Given the description of an element on the screen output the (x, y) to click on. 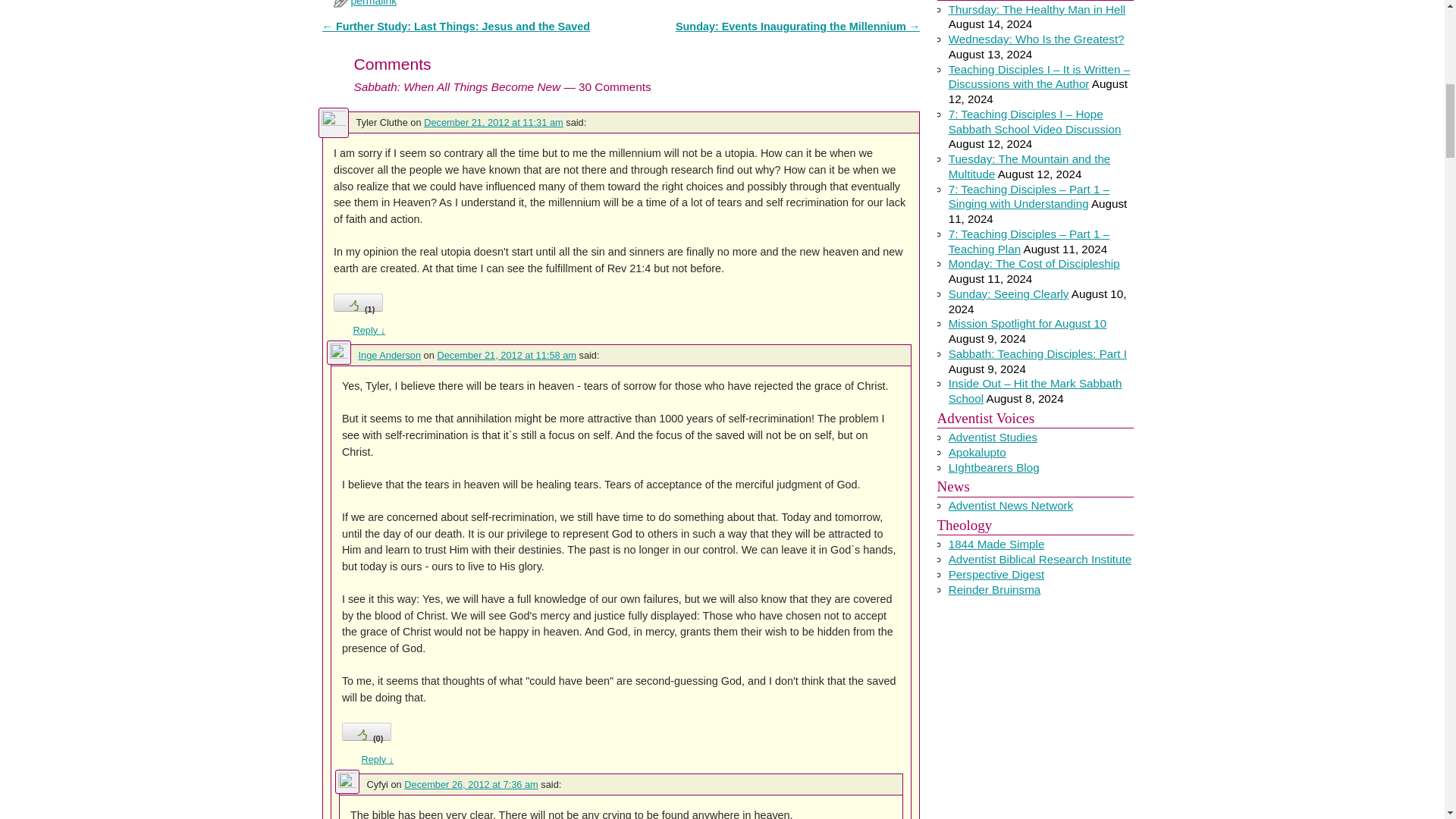
by Arthur Patrick of Avondale (992, 436)
Permalink to Sabbath: When All Things Become New (373, 3)
Publication of Adventist Theological Society (997, 574)
Official Adventist News Network (1011, 504)
 David Hamstra blog (977, 451)
